Given the description of an element on the screen output the (x, y) to click on. 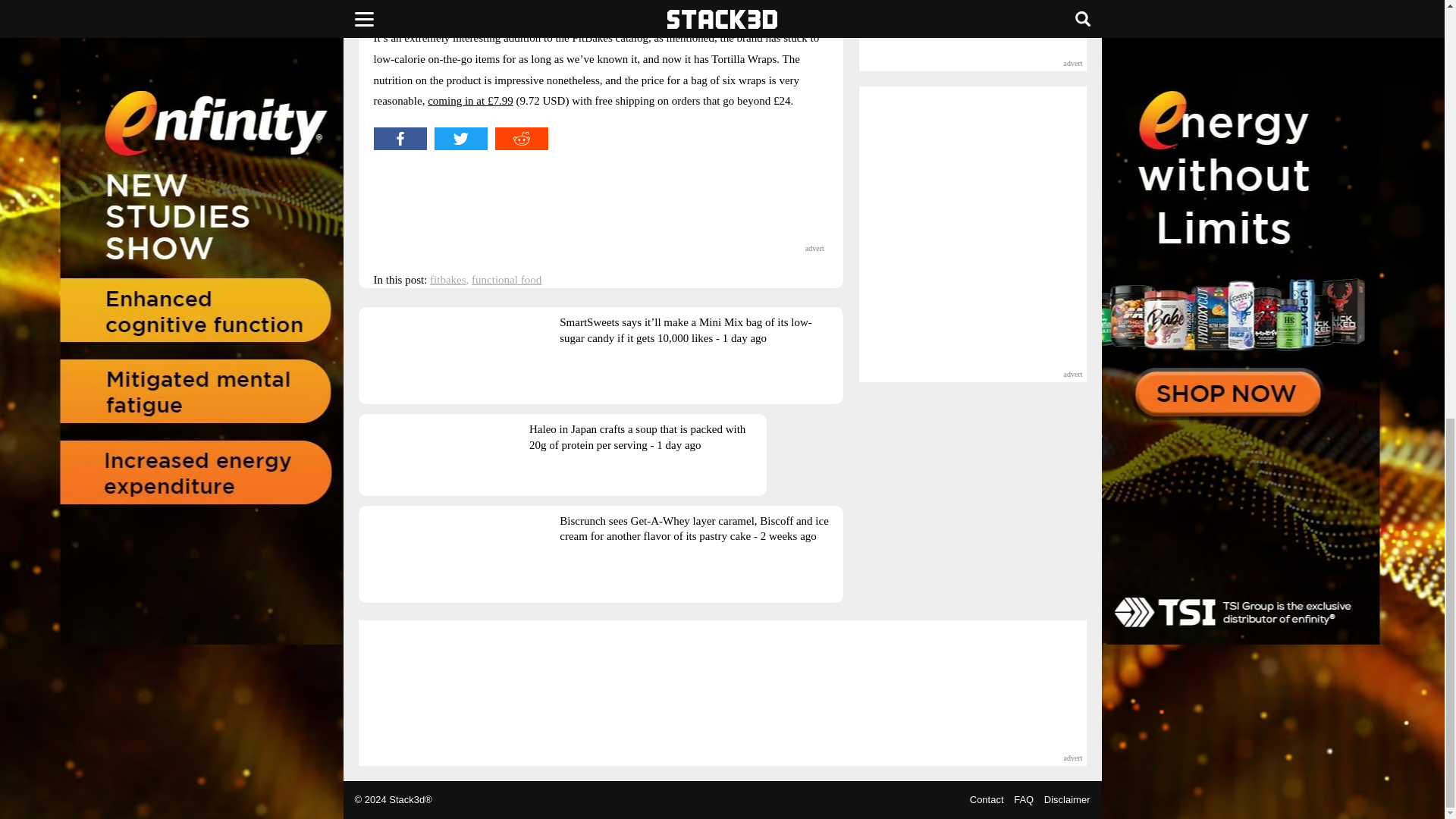
functional food (506, 279)
fitbakes (447, 279)
